Given the description of an element on the screen output the (x, y) to click on. 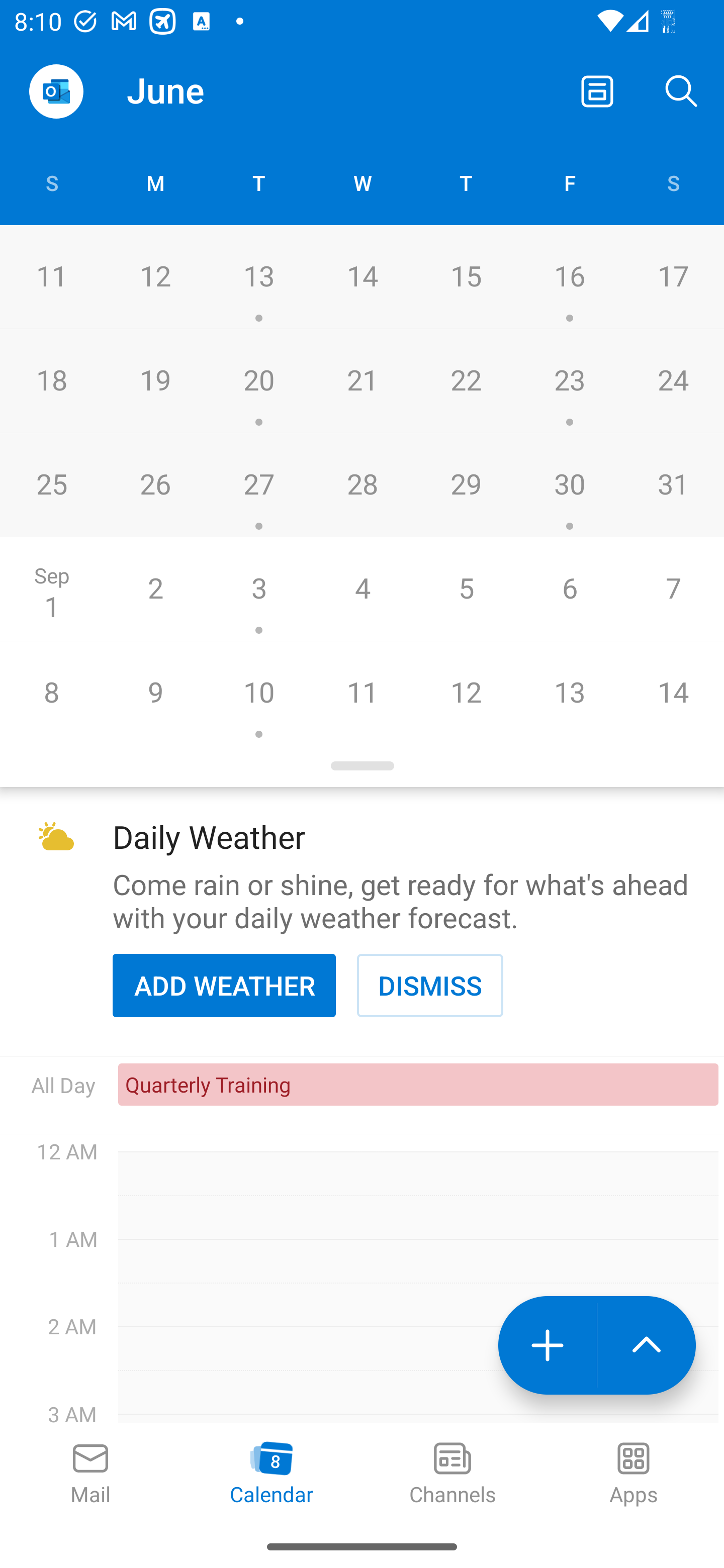
June June 2024, day picker (203, 90)
Switch away from Day view (597, 90)
Search, ,  (681, 90)
Open Navigation Drawer (55, 91)
11 Sunday, August 11 (51, 277)
12 Monday, August 12 (155, 277)
13 Events on Tuesday, August 13 (258, 277)
14 Wednesday, August 14 (362, 277)
15 Thursday, August 15 (465, 277)
16 Events on Friday, August 16 (569, 277)
17 Saturday, August 17 (672, 277)
18 Sunday, August 18 (51, 380)
19 Monday, August 19 (155, 380)
20 Events on Tuesday, August 20 (258, 380)
21 Wednesday, August 21 (362, 380)
22 Thursday, August 22 (465, 380)
23 Events on Friday, August 23 (569, 380)
24 Saturday, August 24 (672, 380)
25 Sunday, August 25 (51, 484)
26 Monday, August 26 (155, 484)
